Given the description of an element on the screen output the (x, y) to click on. 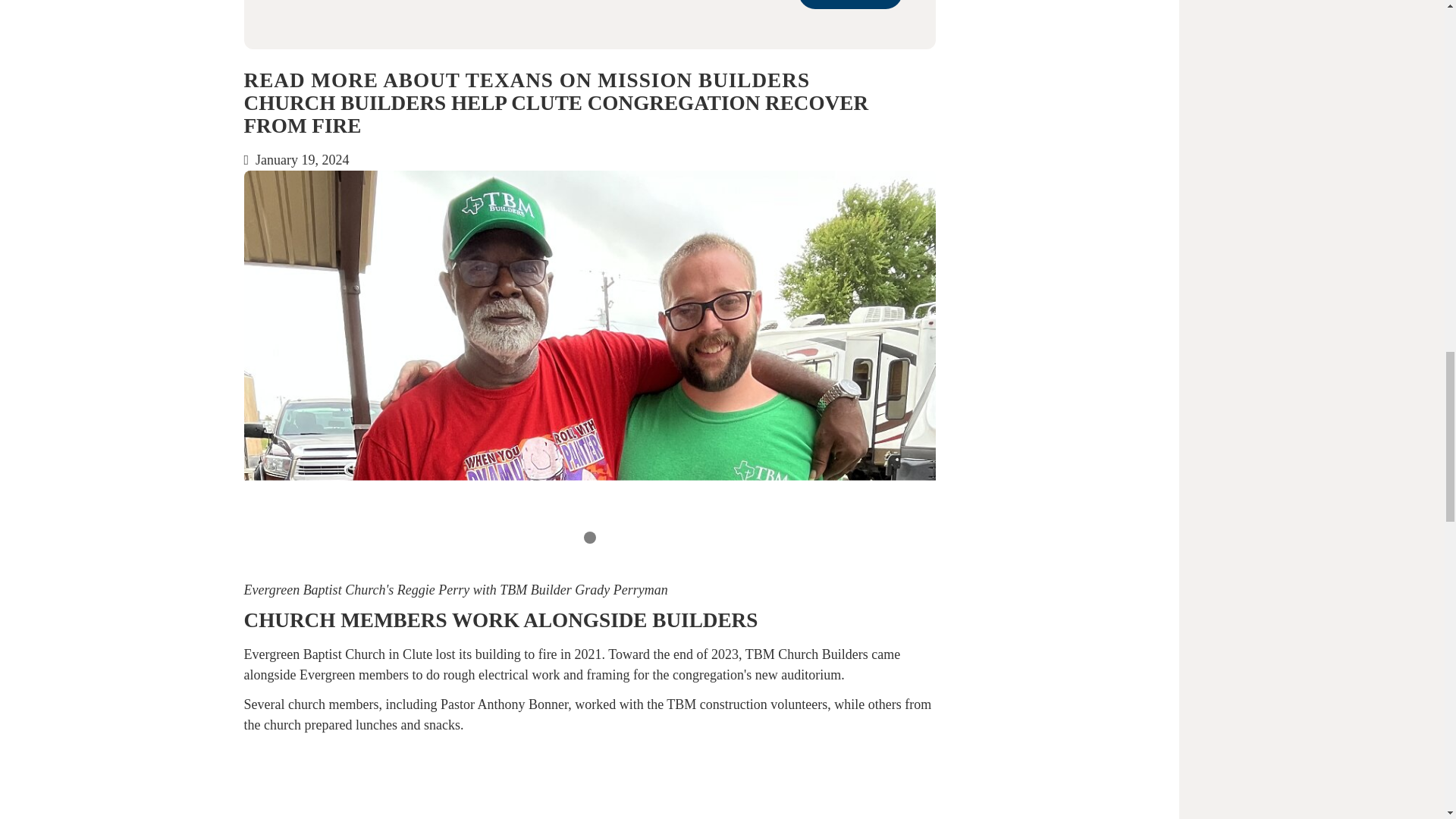
SUBMIT (849, 4)
